Given the description of an element on the screen output the (x, y) to click on. 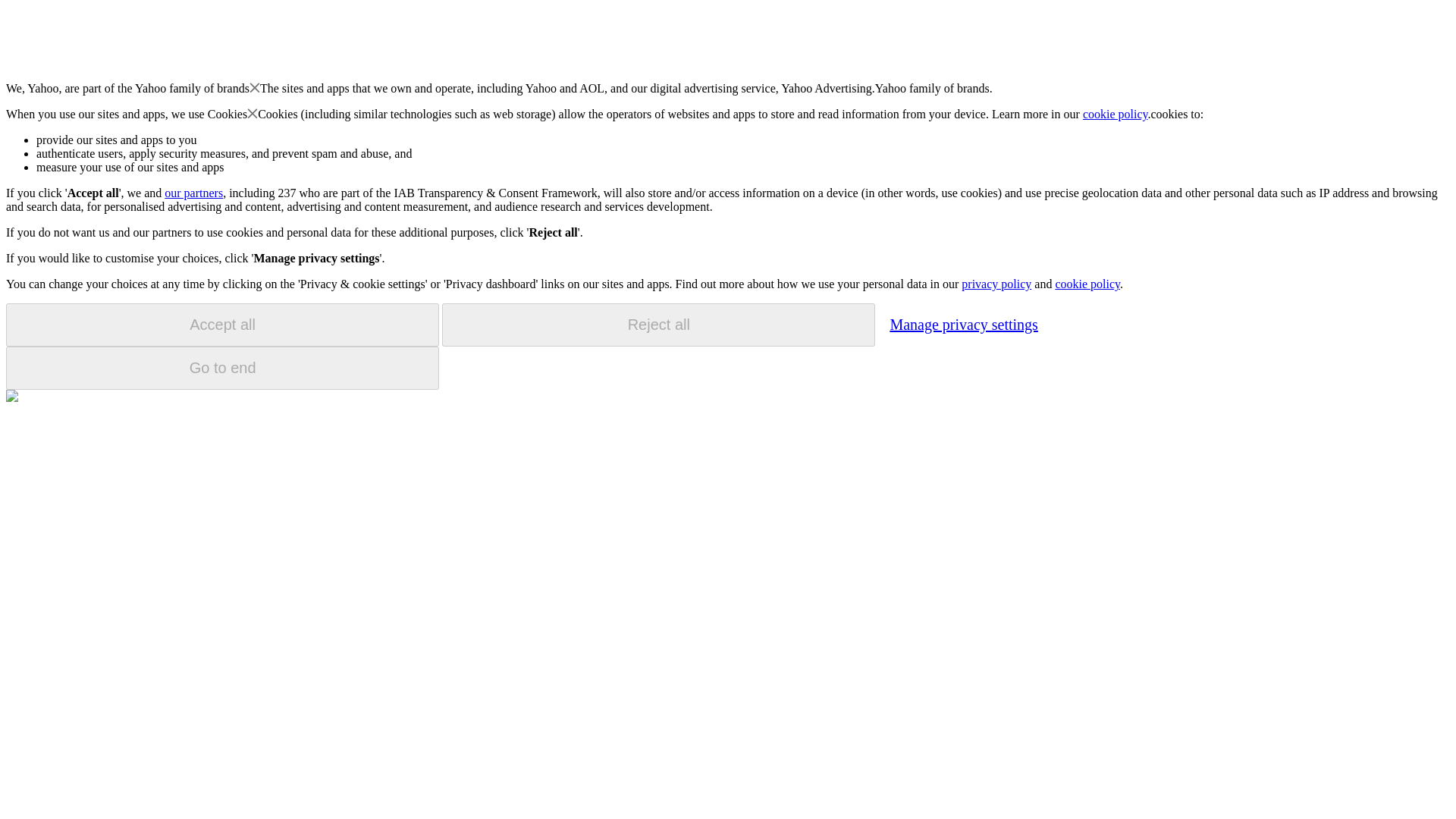
privacy policy (995, 283)
cookie policy (1115, 113)
Manage privacy settings (963, 323)
Reject all (658, 324)
Go to end (222, 367)
cookie policy (1086, 283)
our partners (193, 192)
Accept all (222, 324)
